Given the description of an element on the screen output the (x, y) to click on. 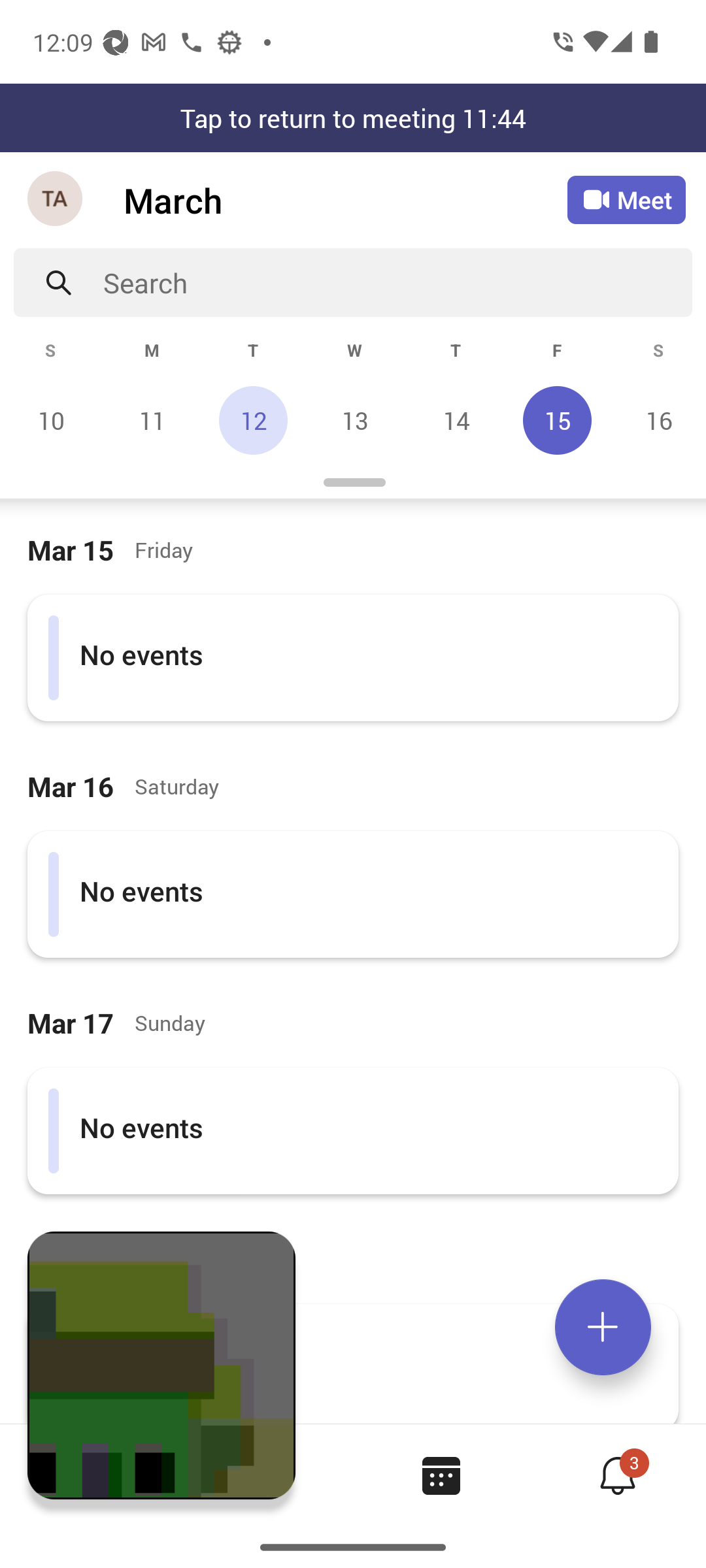
Tap to return to meeting 11:44 (353, 117)
Navigation (56, 199)
Meet Meet now or join with an ID (626, 199)
March March Calendar Agenda View (345, 199)
Search (397, 281)
Sunday, March 10 10 (50, 420)
Monday, March 11 11 (151, 420)
Tuesday, March 12, Today 12 (253, 420)
Wednesday, March 13 13 (354, 420)
Thursday, March 14 14 (455, 420)
Friday, March 15, Selected 15 (556, 420)
Saturday, March 16 16 (656, 420)
Expand meetings menu (602, 1327)
Calendar tab, 3 of 4 (441, 1475)
Activity tab,4 of 4, not selected, 3 new 3 (617, 1475)
